Given the description of an element on the screen output the (x, y) to click on. 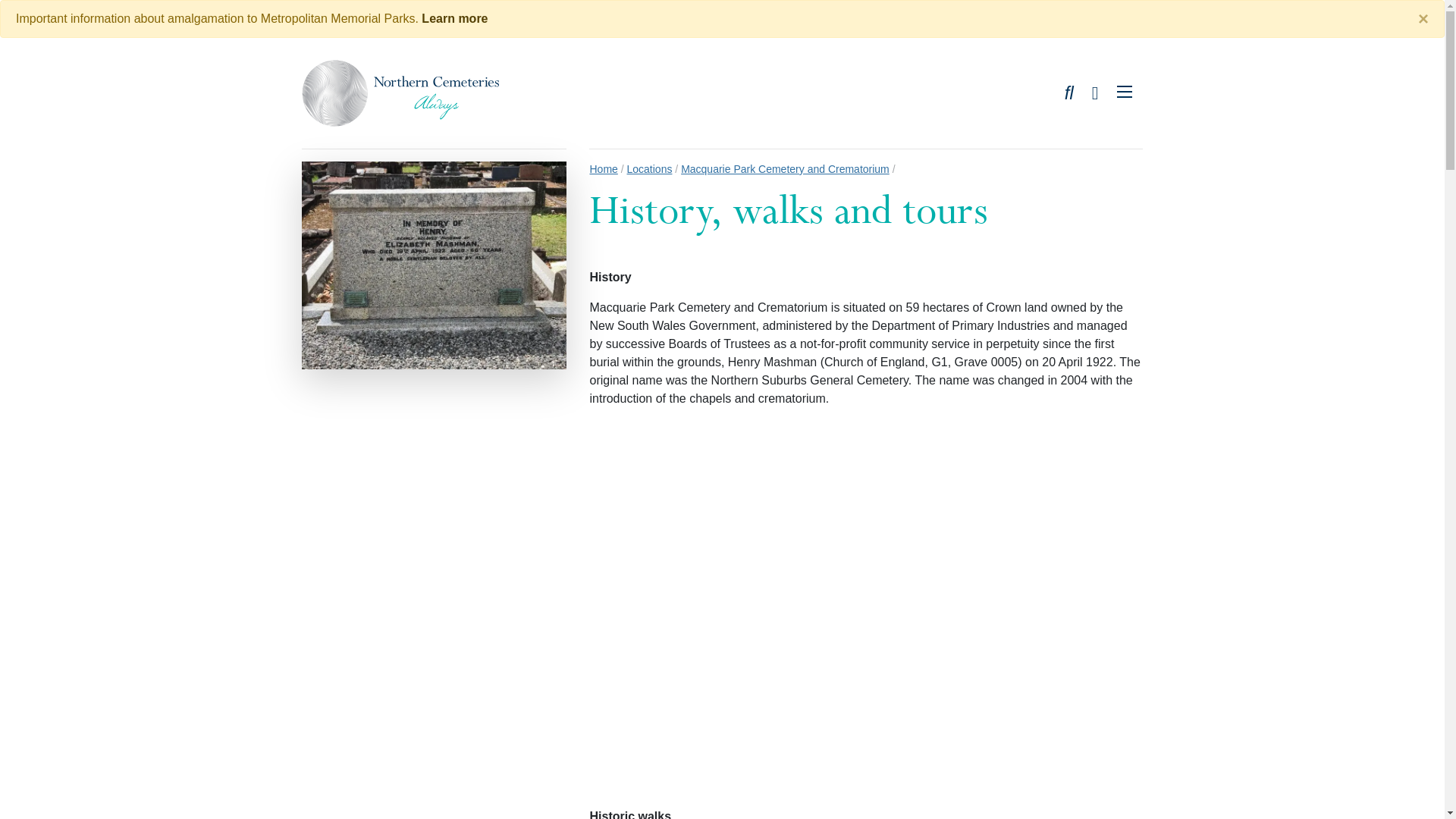
Learn more Element type: text (454, 18)
Home Element type: text (603, 169)
YouTube video player Element type: hover (865, 575)
Locations Element type: text (649, 169)
Macquarie Park Cemetery and Crematorium Element type: text (784, 169)
